Given the description of an element on the screen output the (x, y) to click on. 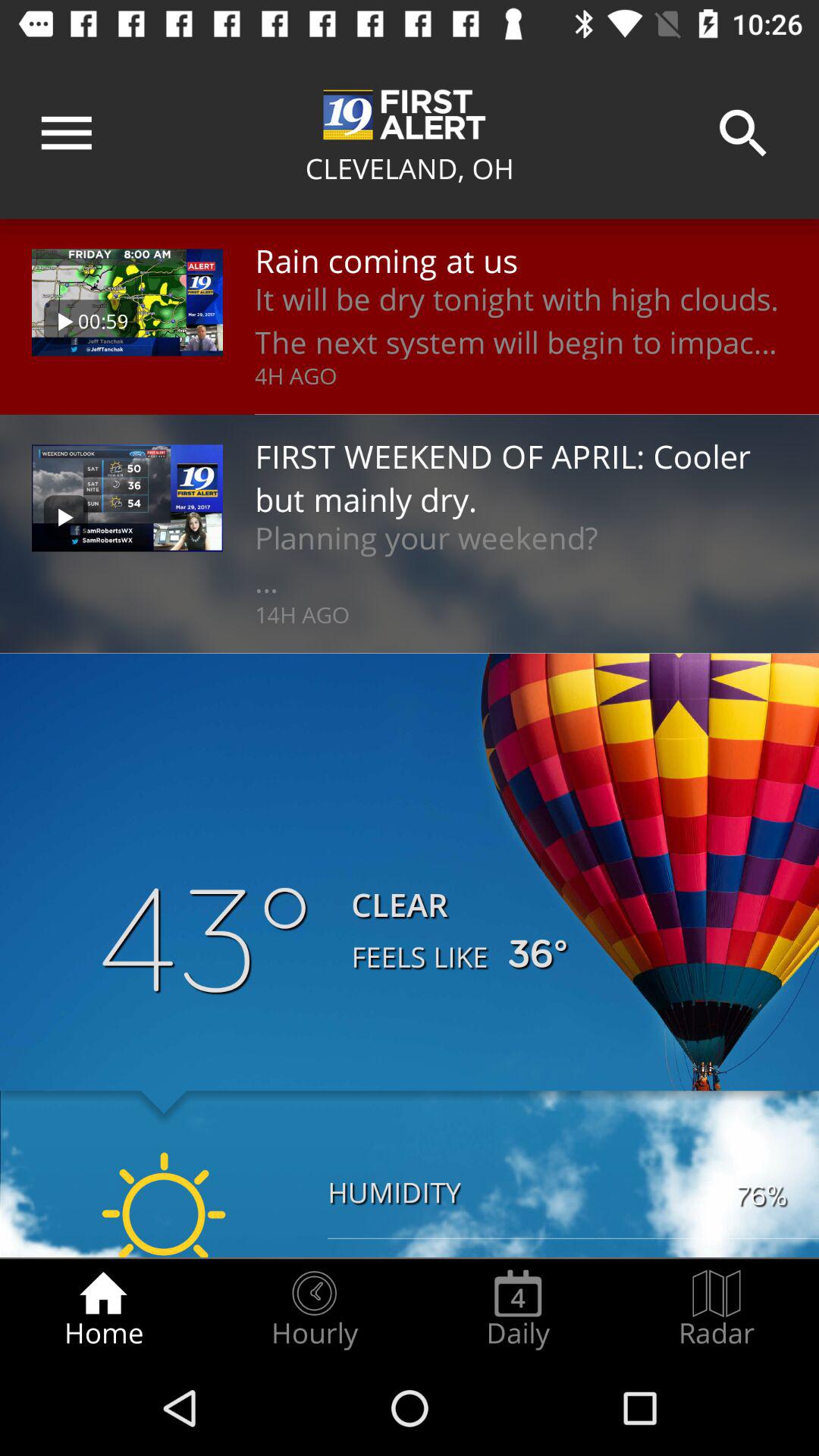
swipe to radar icon (716, 1309)
